Given the description of an element on the screen output the (x, y) to click on. 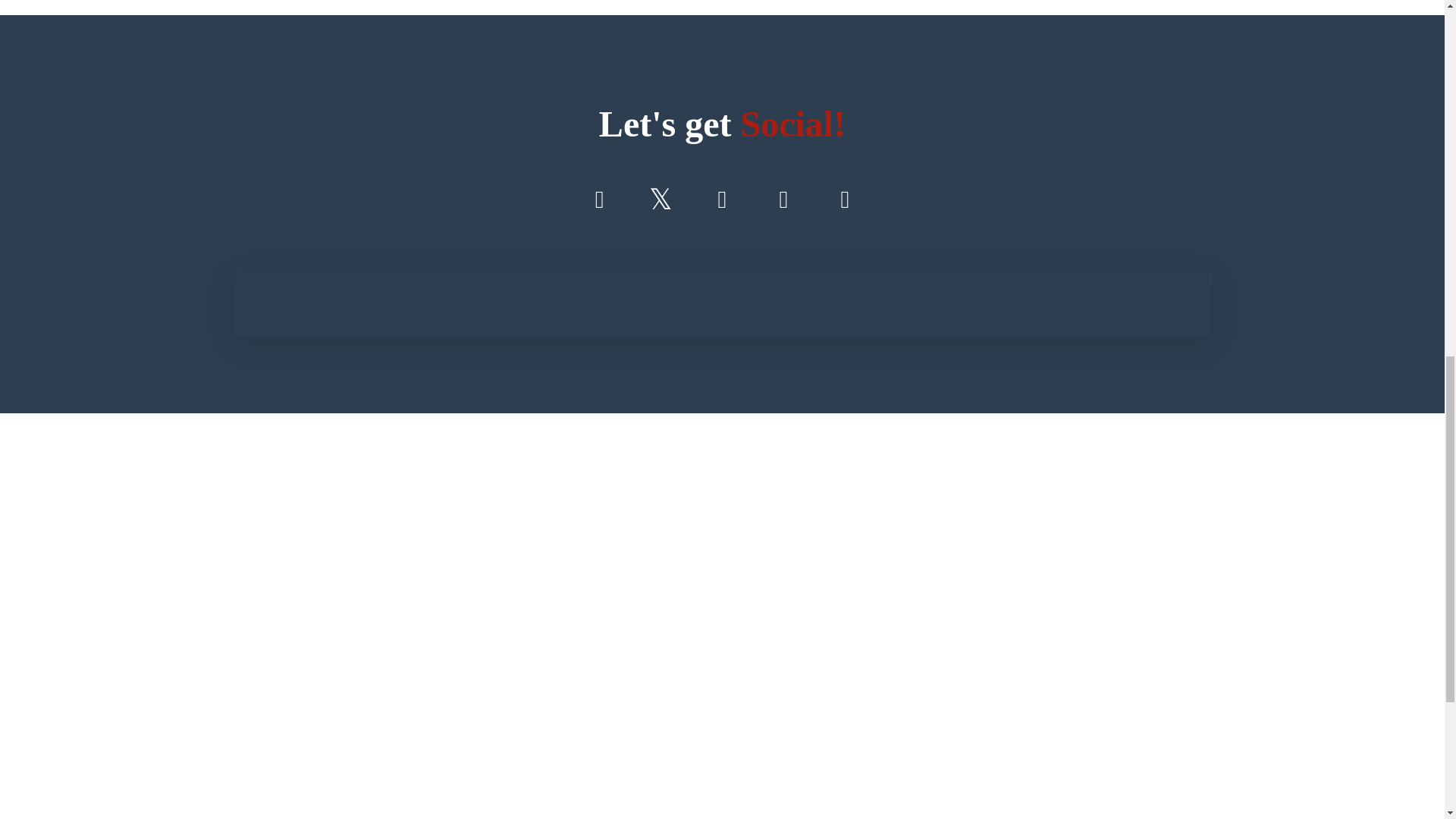
Send (733, 698)
